Given the description of an element on the screen output the (x, y) to click on. 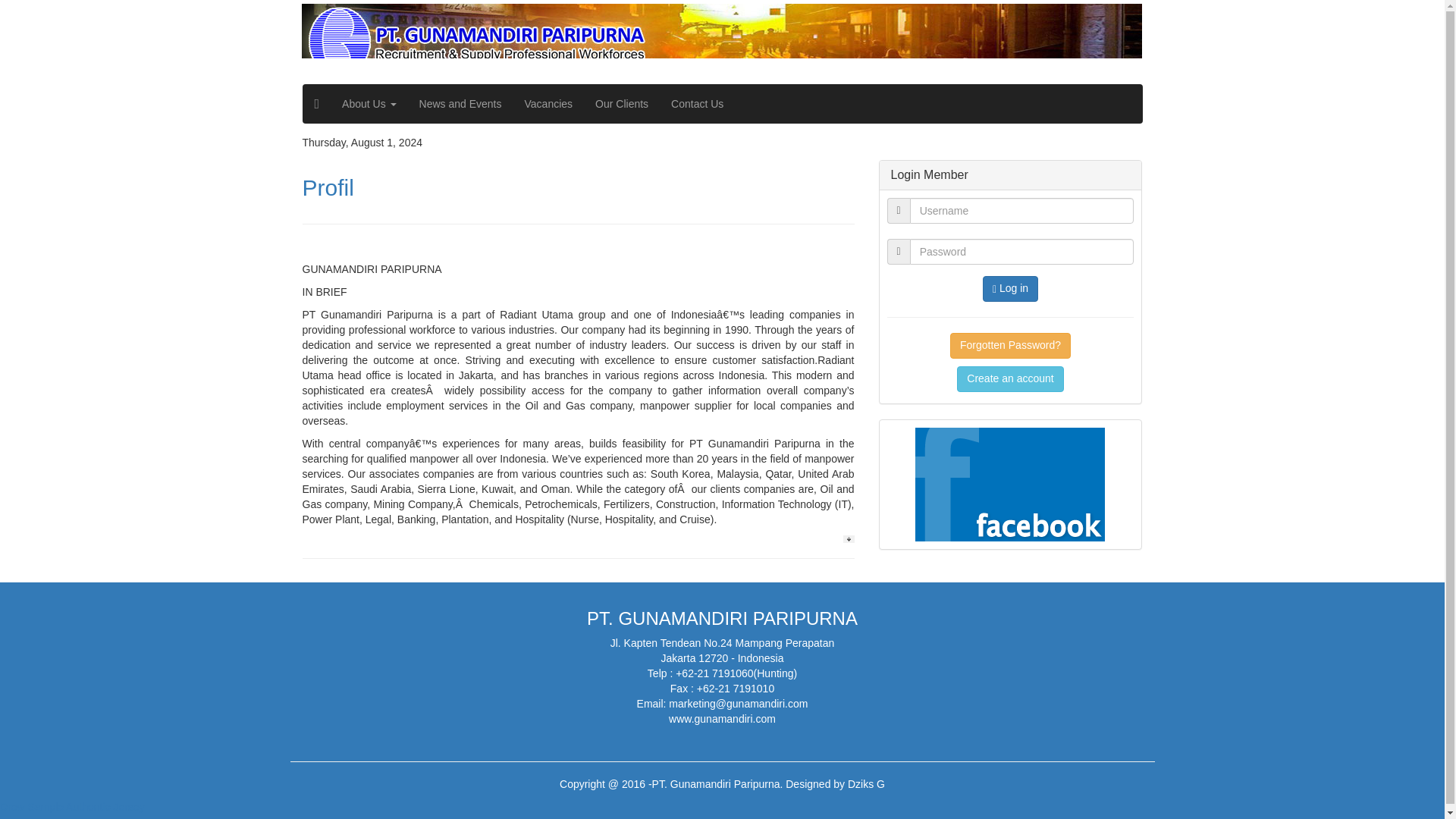
Vacancies (549, 103)
Log in (1010, 289)
Contact Us (697, 103)
Our Clients (621, 103)
Contact Us (697, 103)
Profil (327, 187)
News and Events (460, 103)
Forgotten Password? (1010, 345)
Create an account (1009, 379)
Our Clients (621, 103)
Drew Sample Authentic Jersey (72, 806)
About Us (368, 103)
Vacancies (549, 103)
News and Events (460, 103)
About Us (368, 103)
